Given the description of an element on the screen output the (x, y) to click on. 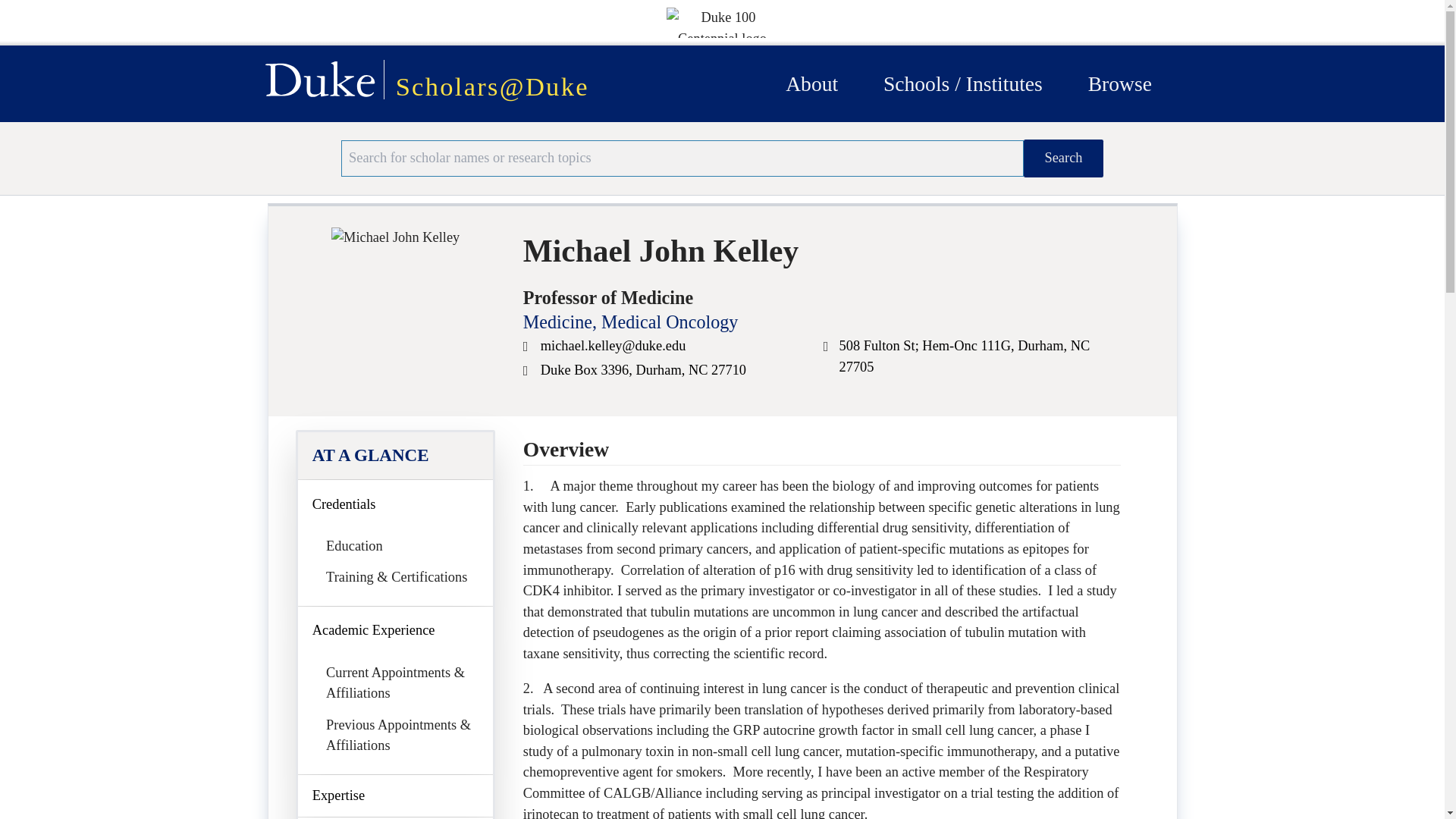
Education (354, 545)
Search (1063, 158)
Browse (1119, 83)
About (812, 83)
Academic Experience (395, 630)
AT A GLANCE (395, 455)
Search (1063, 158)
Search (1063, 158)
